Given the description of an element on the screen output the (x, y) to click on. 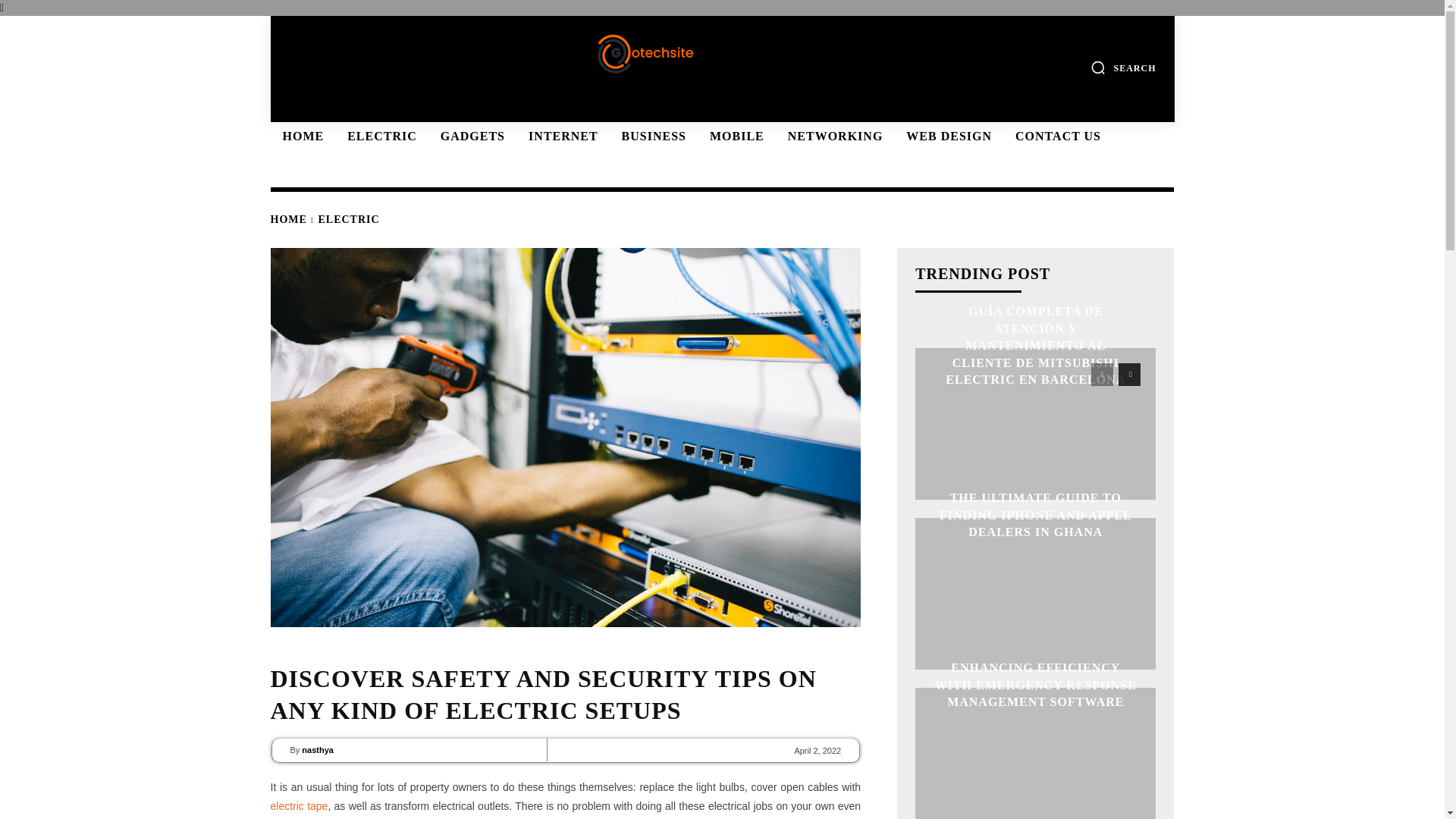
SEARCH (1123, 67)
View all posts in ELECTRIC (349, 219)
WEB DESIGN (945, 136)
NETWORKING (833, 136)
INTERNET (560, 136)
CONTACT US (1055, 136)
HOME (287, 219)
ELECTRIC (379, 136)
